Given the description of an element on the screen output the (x, y) to click on. 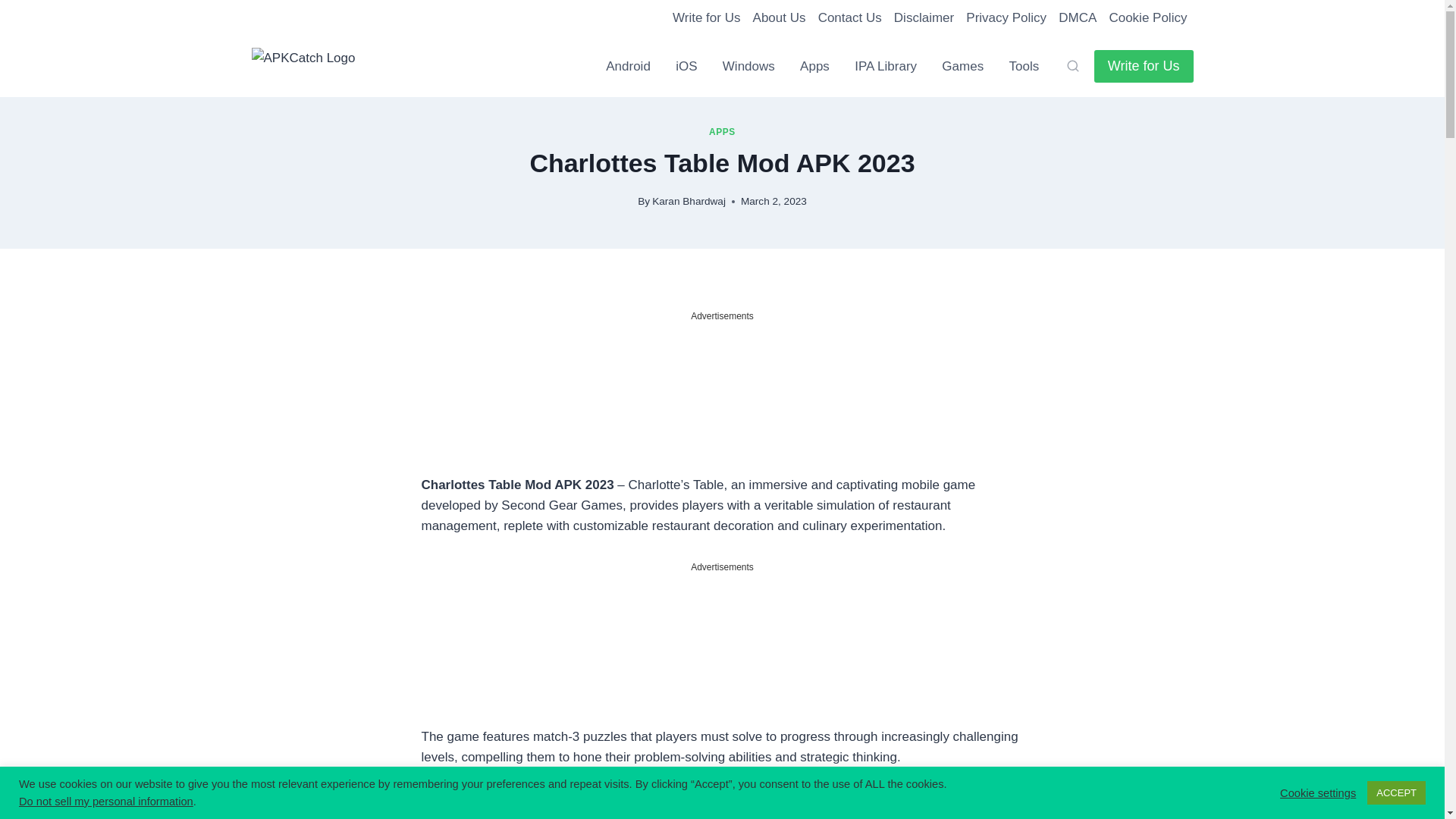
Android (628, 66)
Tools (1023, 66)
IPA Library (884, 66)
Apps (814, 66)
Advertisement (722, 399)
APPS (722, 131)
iOS (686, 66)
Cookie Policy (1147, 18)
DMCA (1077, 18)
Windows (748, 66)
Karan Bhardwaj (688, 201)
Write for Us (1143, 65)
Write for Us (706, 18)
Privacy Policy (1005, 18)
Advertisement (722, 649)
